Given the description of an element on the screen output the (x, y) to click on. 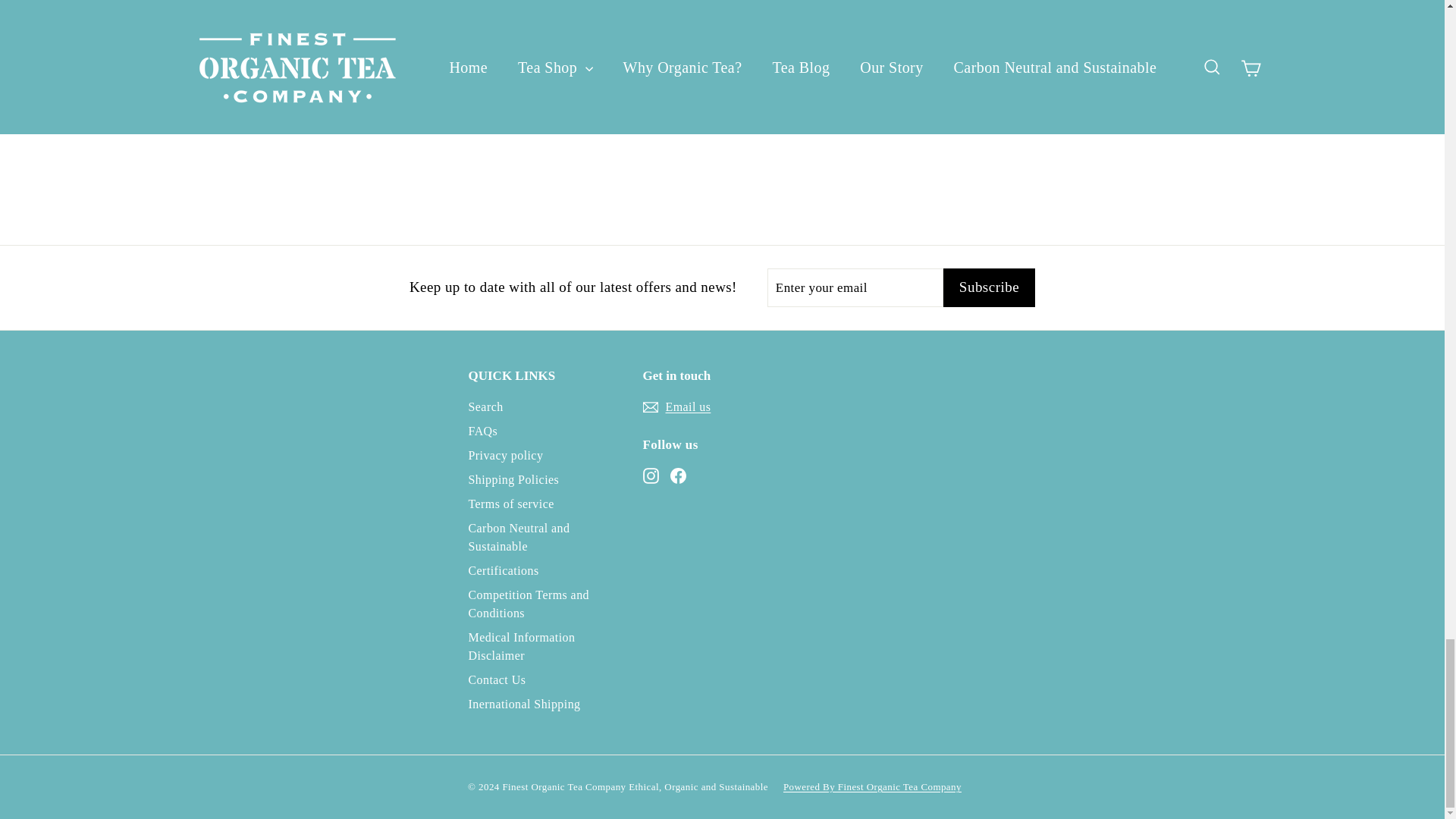
instagram (651, 475)
